Given the description of an element on the screen output the (x, y) to click on. 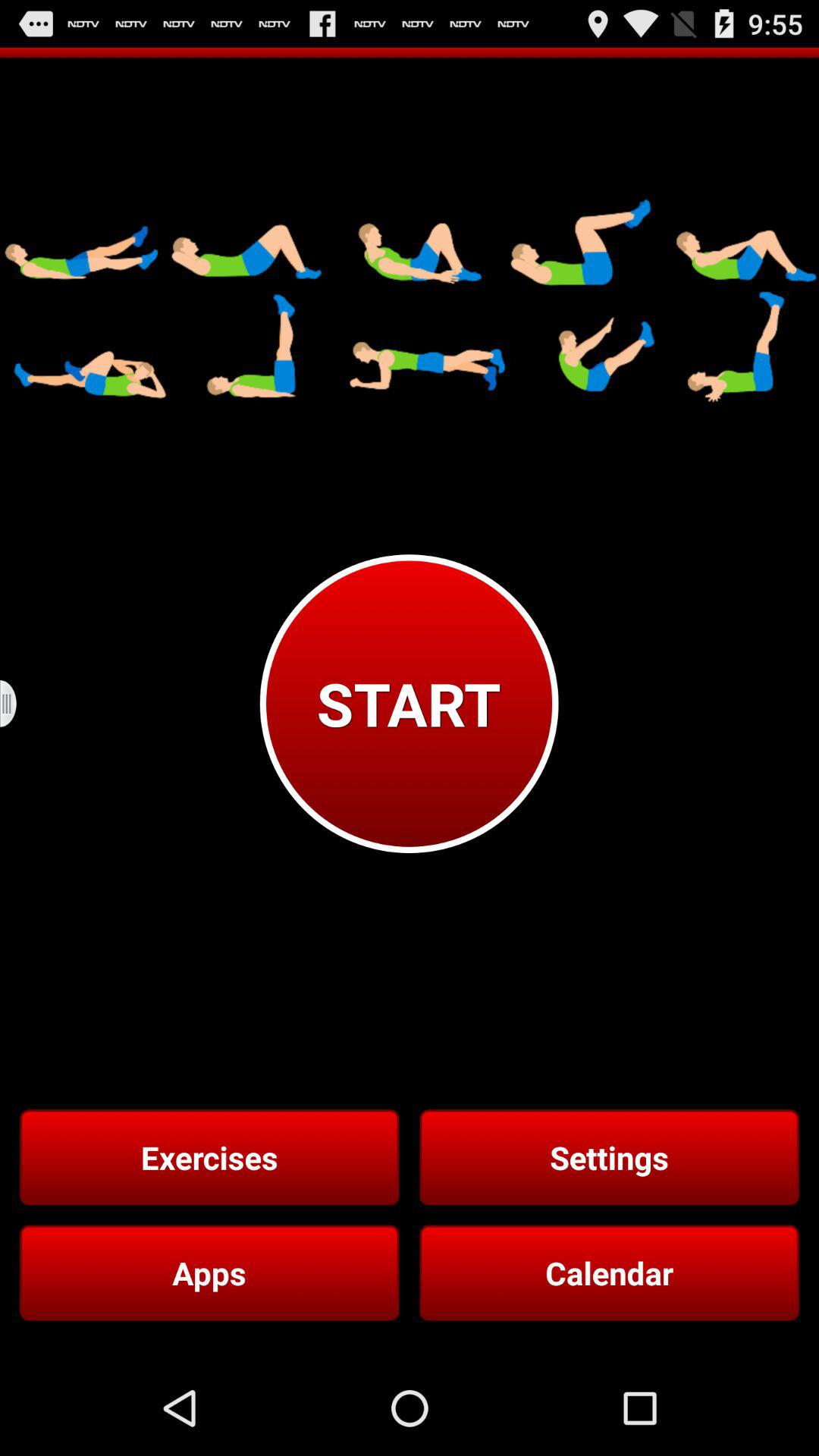
click the icon below the settings icon (609, 1272)
